Given the description of an element on the screen output the (x, y) to click on. 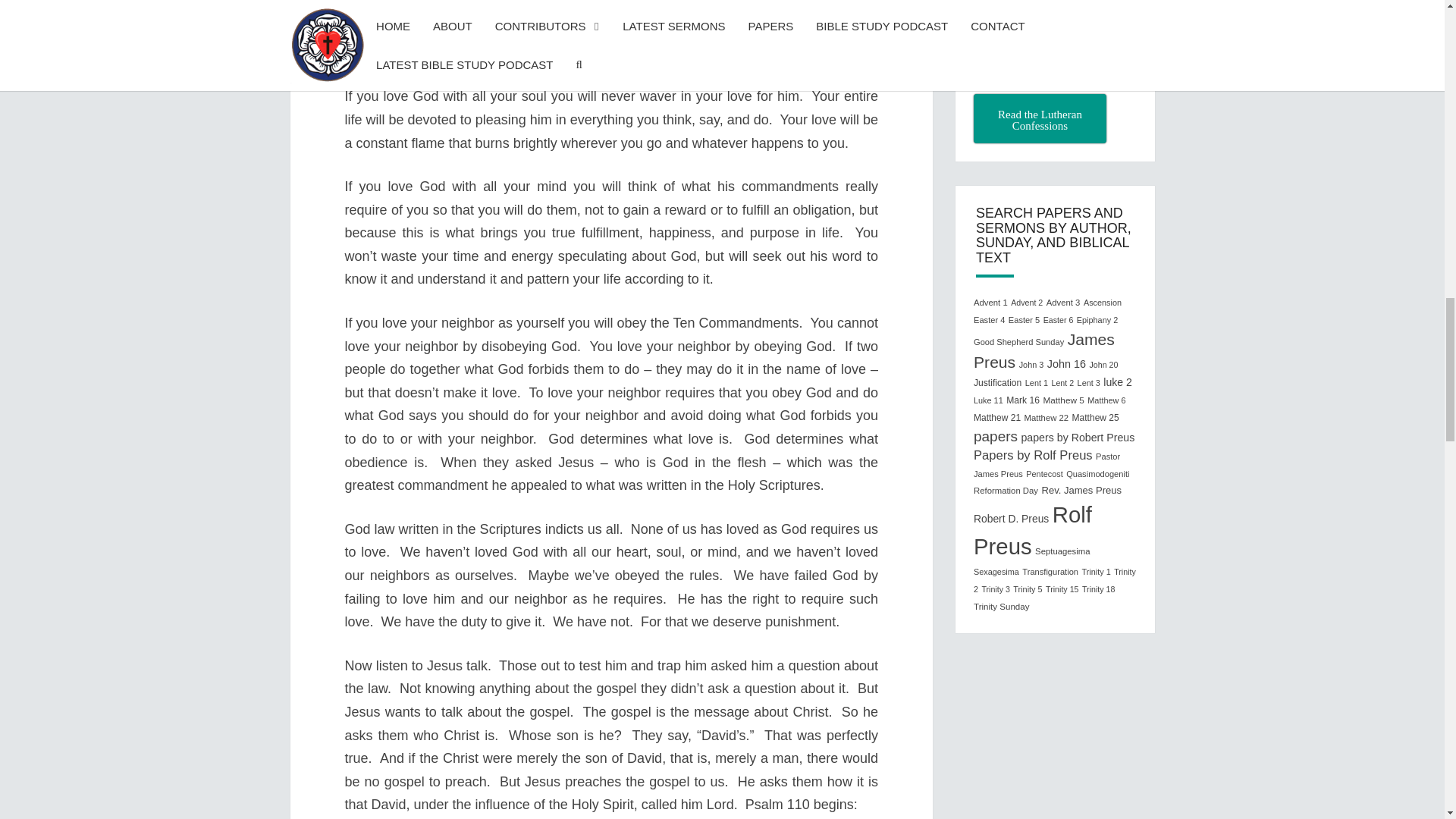
Read the Lutheran Confessions (1040, 118)
Advent 1 (990, 302)
The Lutheran Confessions: The Book of Concord Online (1040, 118)
